Given the description of an element on the screen output the (x, y) to click on. 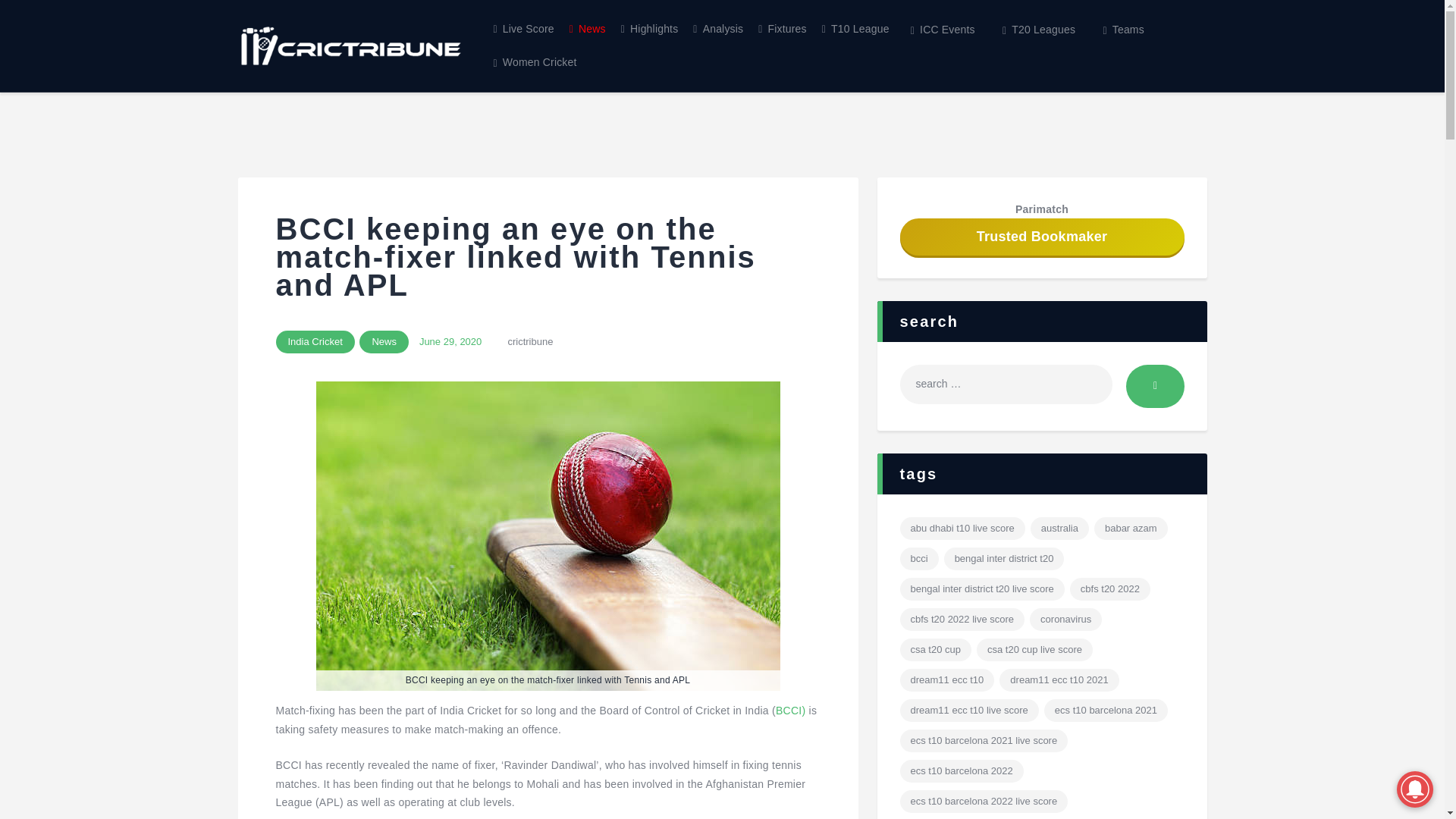
T10 League (854, 29)
Highlights (648, 29)
Teams (1123, 30)
News (587, 29)
Fixtures (782, 29)
Search (1154, 385)
Search (1154, 385)
T20 Leagues (1038, 30)
ICC Events (942, 30)
Analysis (718, 29)
